Given the description of an element on the screen output the (x, y) to click on. 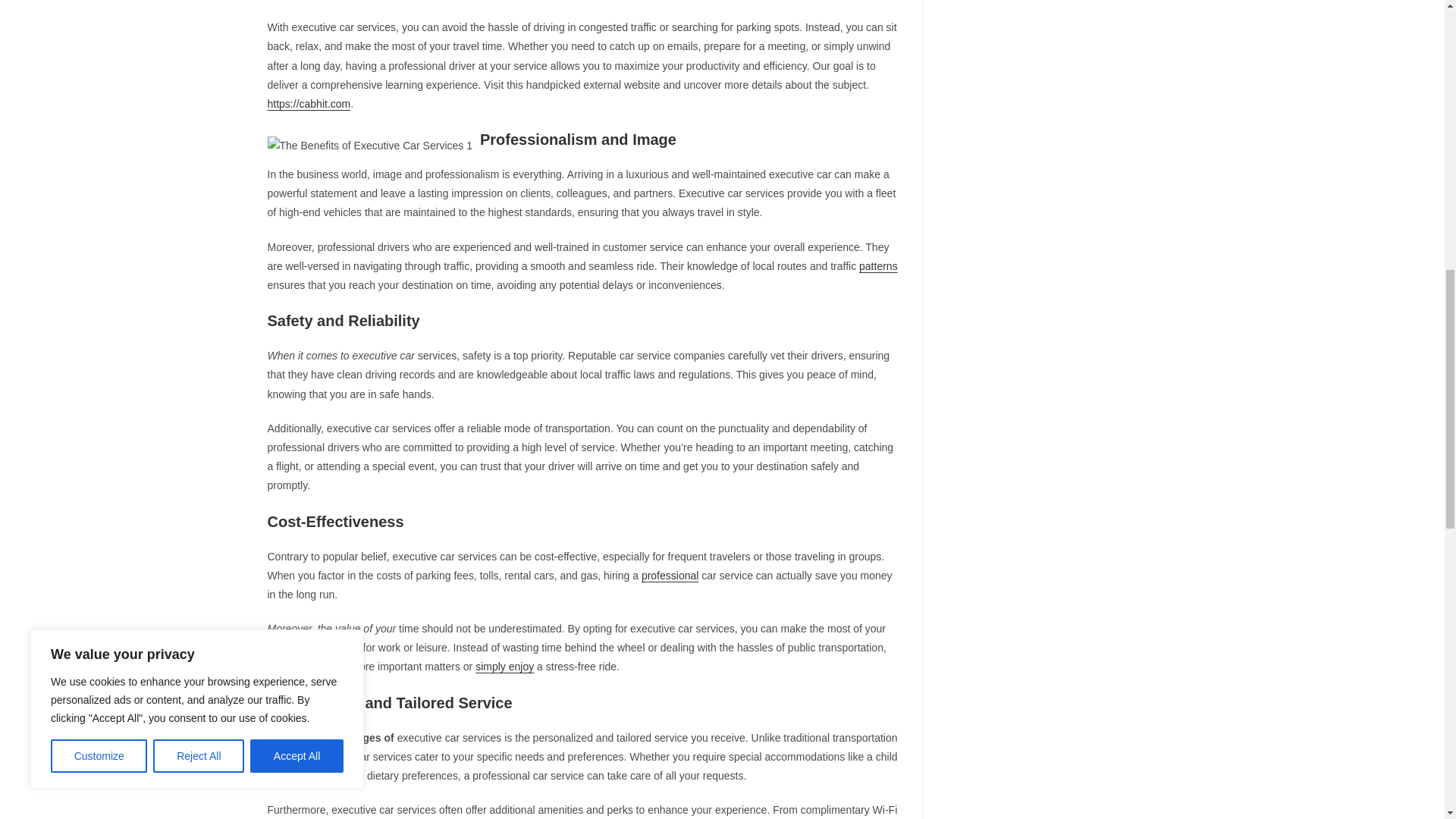
patterns (878, 265)
professional (670, 575)
simply enjoy (505, 666)
